Given the description of an element on the screen output the (x, y) to click on. 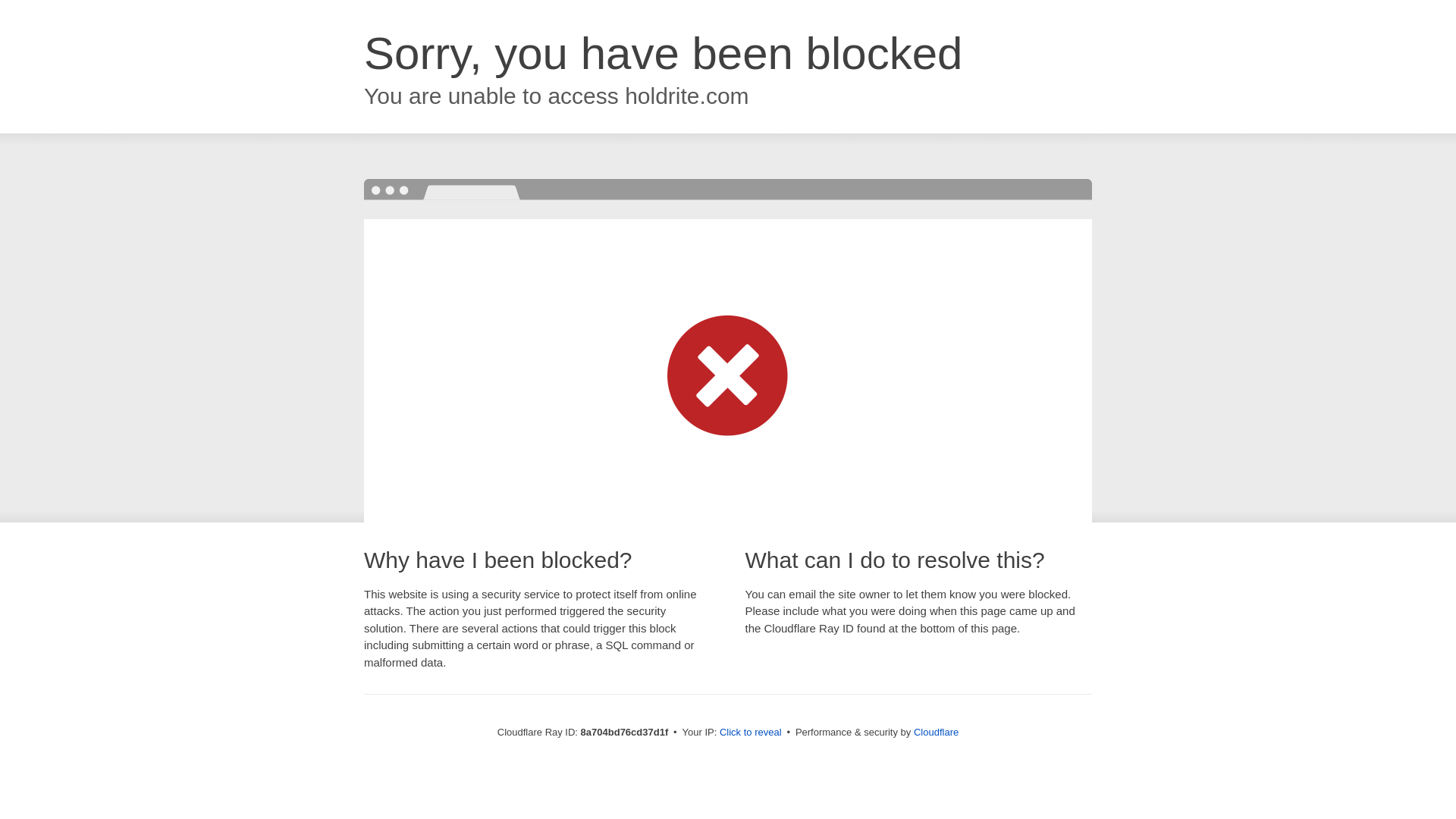
Click to reveal (750, 732)
Cloudflare (936, 731)
